Given the description of an element on the screen output the (x, y) to click on. 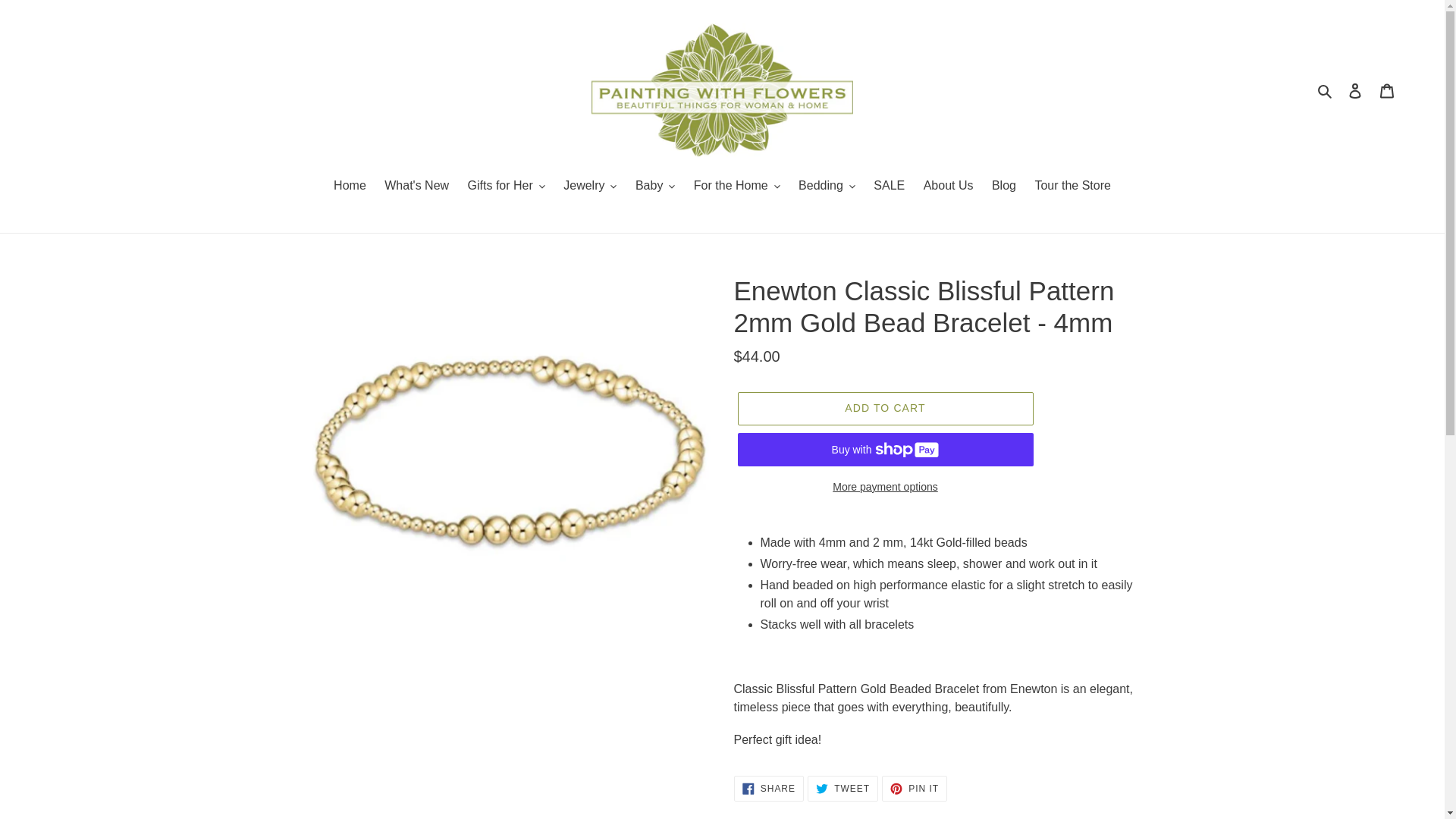
Log in (1355, 90)
Search (1326, 89)
Cart (1387, 90)
